Given the description of an element on the screen output the (x, y) to click on. 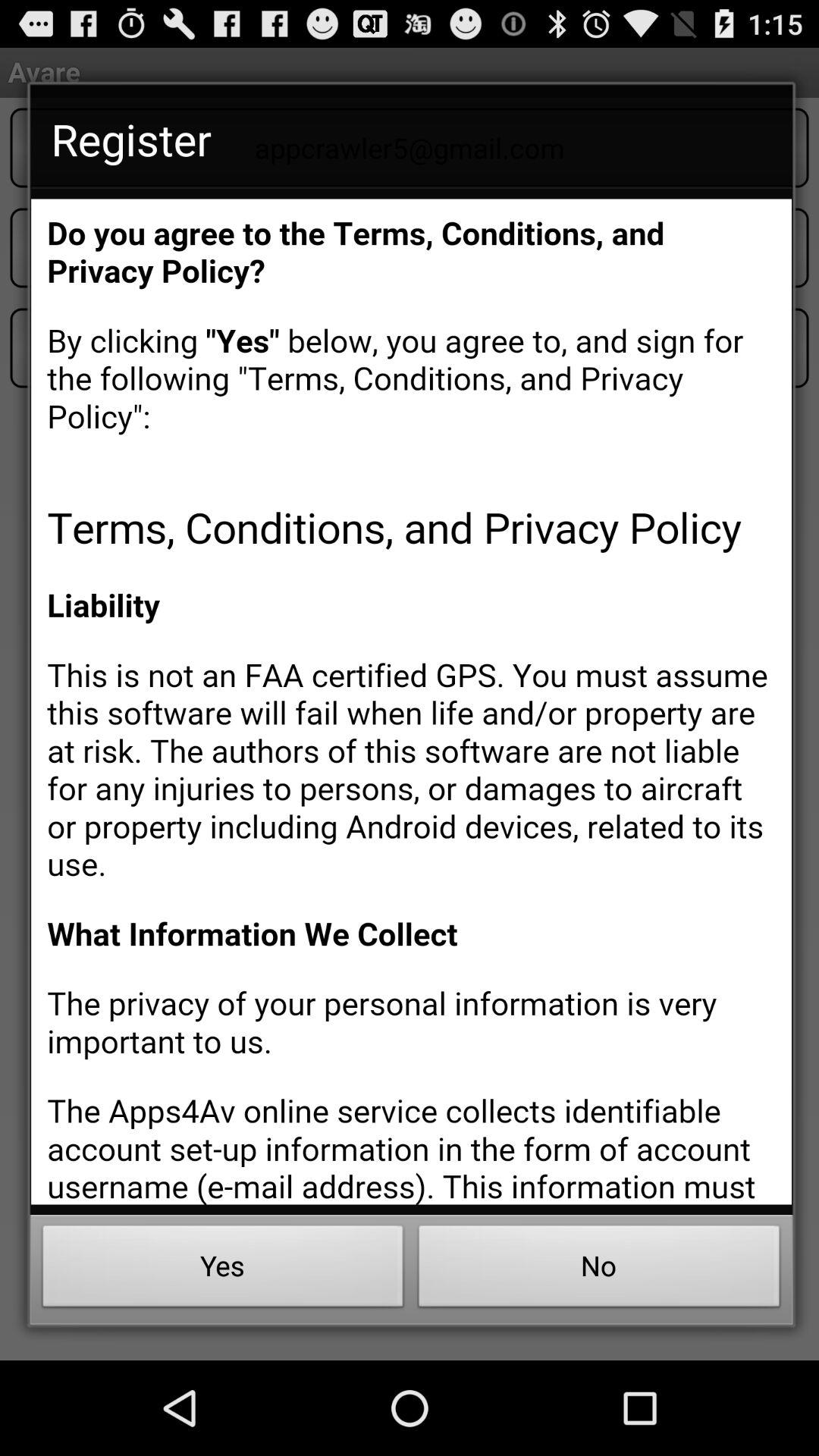
scroll through text (411, 701)
